Given the description of an element on the screen output the (x, y) to click on. 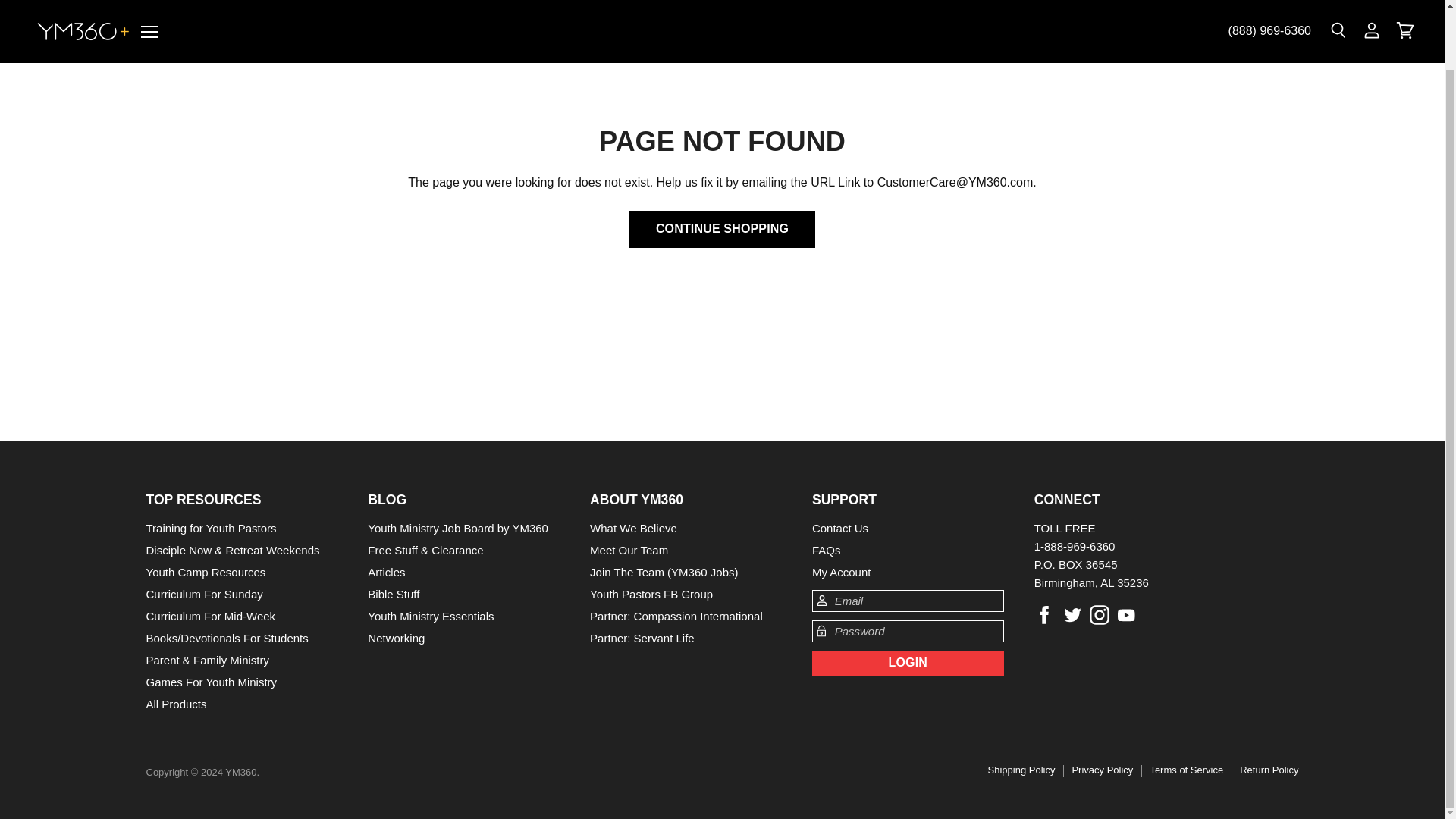
Twitter (1072, 614)
Login (908, 662)
Facebook (1044, 614)
View cart (1405, 18)
View account (1372, 18)
Menu (149, 18)
Instagram (1099, 614)
tel:1-888-969-6360 (1269, 17)
Youtube (1126, 614)
Search (1338, 18)
